Given the description of an element on the screen output the (x, y) to click on. 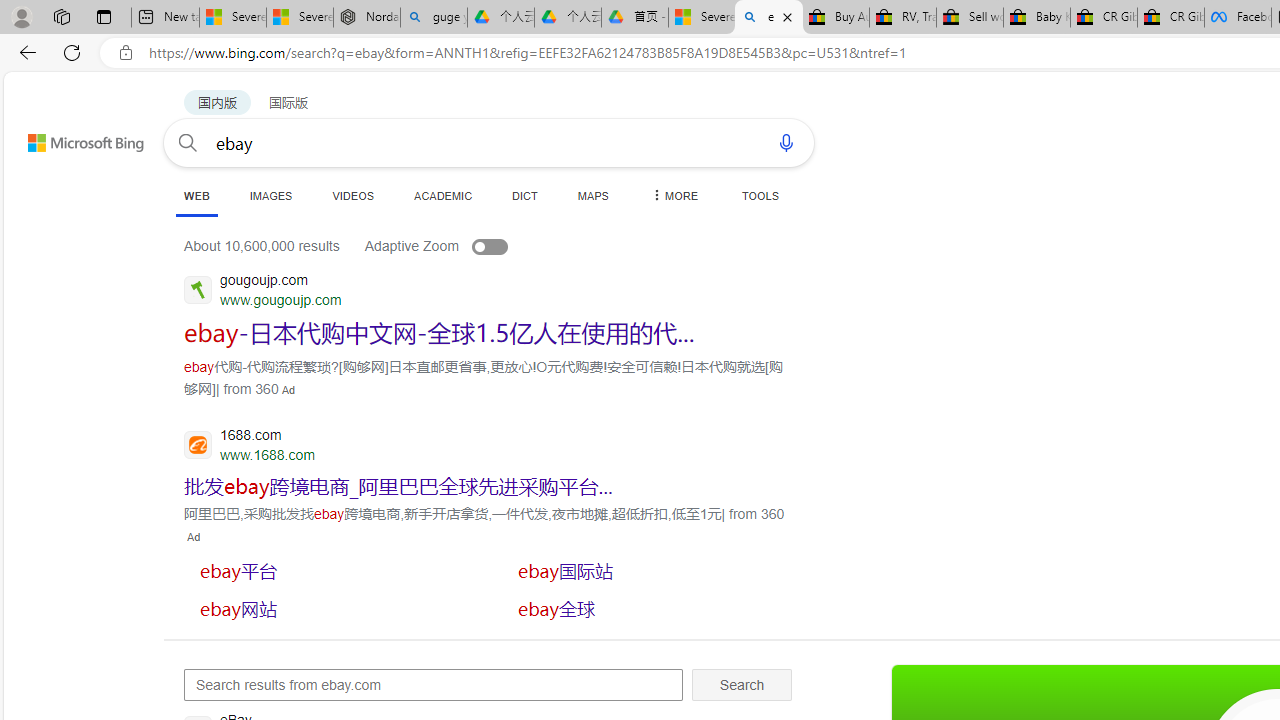
DICT (525, 195)
ACADEMIC (443, 195)
TOOLS (760, 195)
Search using voice (785, 142)
VIDEOS (352, 195)
DICT (525, 195)
